Given the description of an element on the screen output the (x, y) to click on. 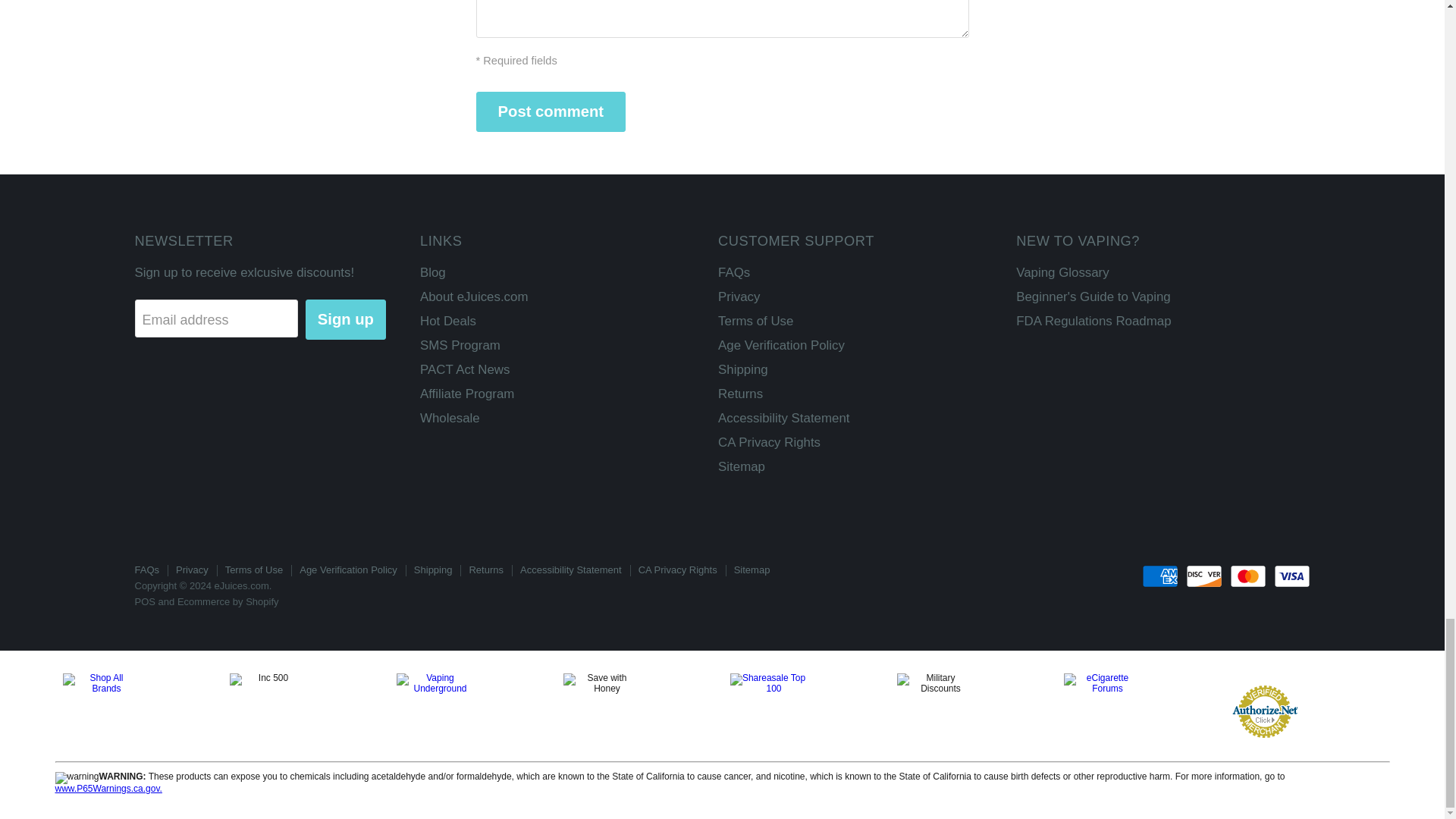
Save with Honey (638, 710)
American Express (1159, 576)
Inc 500 (304, 710)
Vaping Underground (471, 710)
Discover (1204, 576)
Visa (1292, 576)
ECF - eCigarette Forums (1138, 710)
Shareasale top 100 (804, 710)
Shop All Brands (138, 710)
Military Discounts (972, 710)
